Given the description of an element on the screen output the (x, y) to click on. 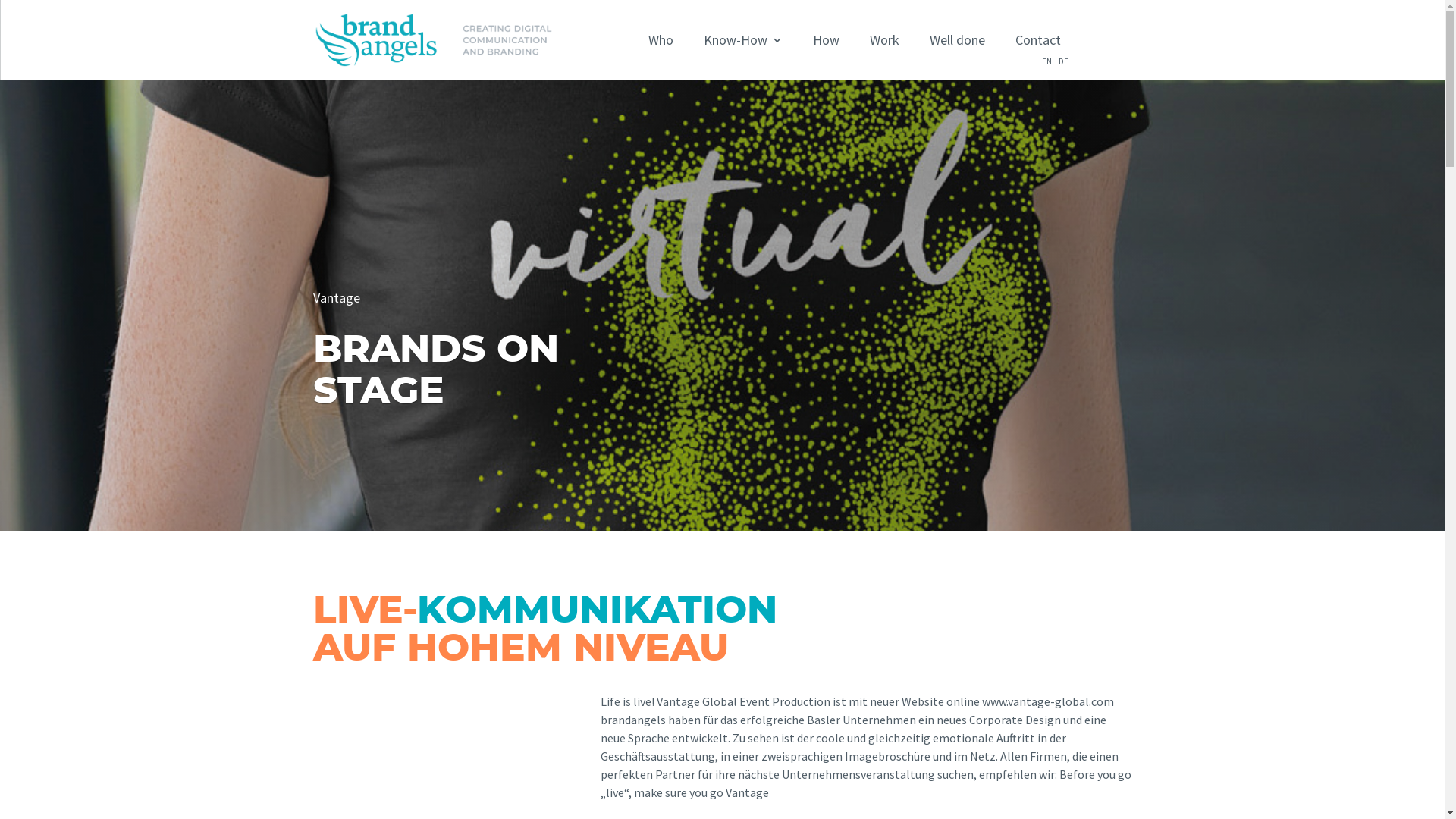
Contact Element type: text (1037, 40)
EN Element type: text (1046, 61)
Know-How Element type: text (742, 40)
Well done Element type: text (957, 40)
DE Element type: text (1063, 61)
Work Element type: text (884, 40)
Who Element type: text (660, 40)
How Element type: text (825, 40)
